Given the description of an element on the screen output the (x, y) to click on. 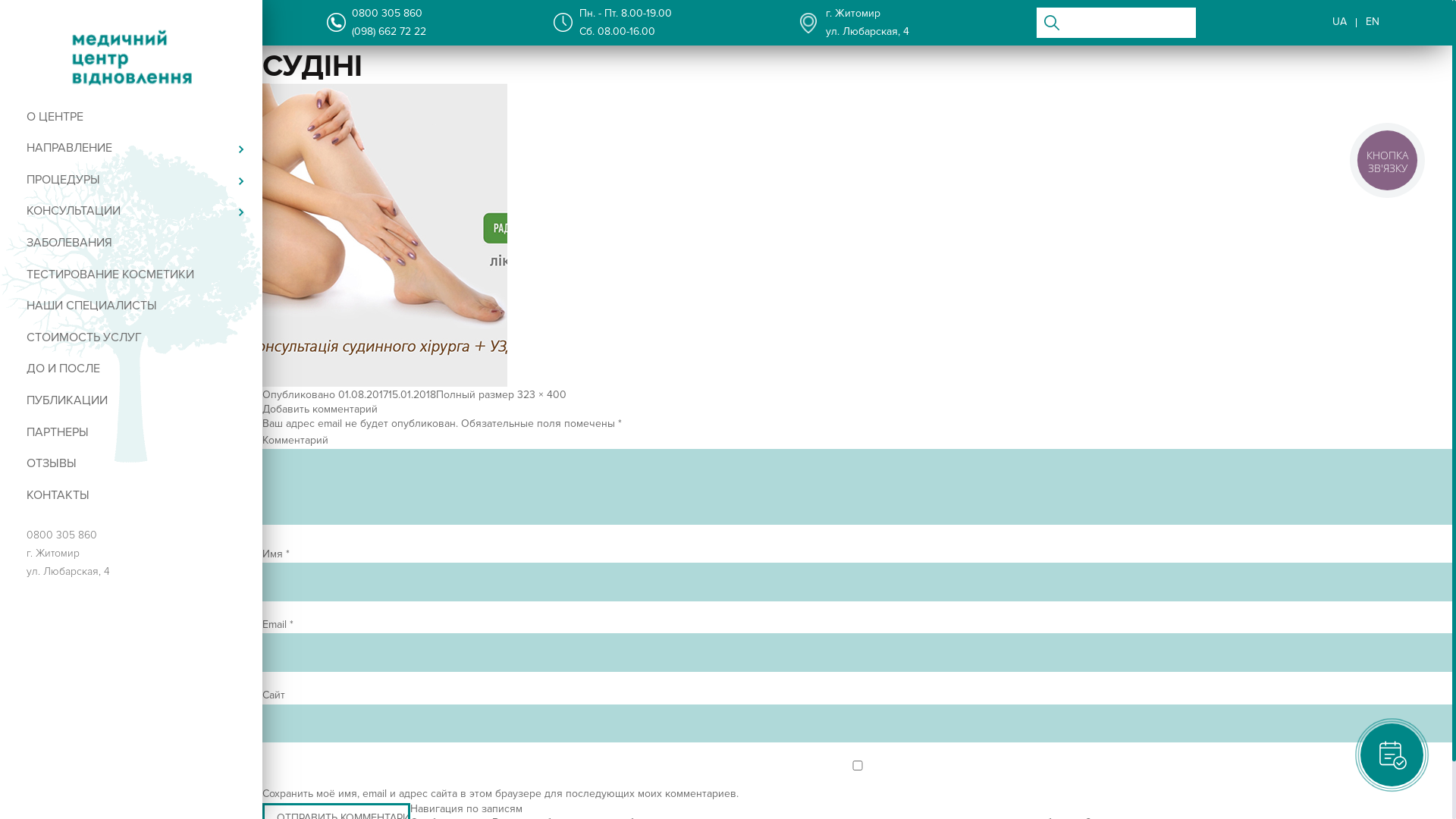
0800 305 860 Element type: text (386, 12)
UA Element type: text (1339, 21)
(098) 662 72 22 Element type: text (388, 31)
0800 305 860 Element type: text (61, 534)
EN Element type: text (1372, 21)
01.08.201715.01.2018 Element type: text (387, 394)
